Given the description of an element on the screen output the (x, y) to click on. 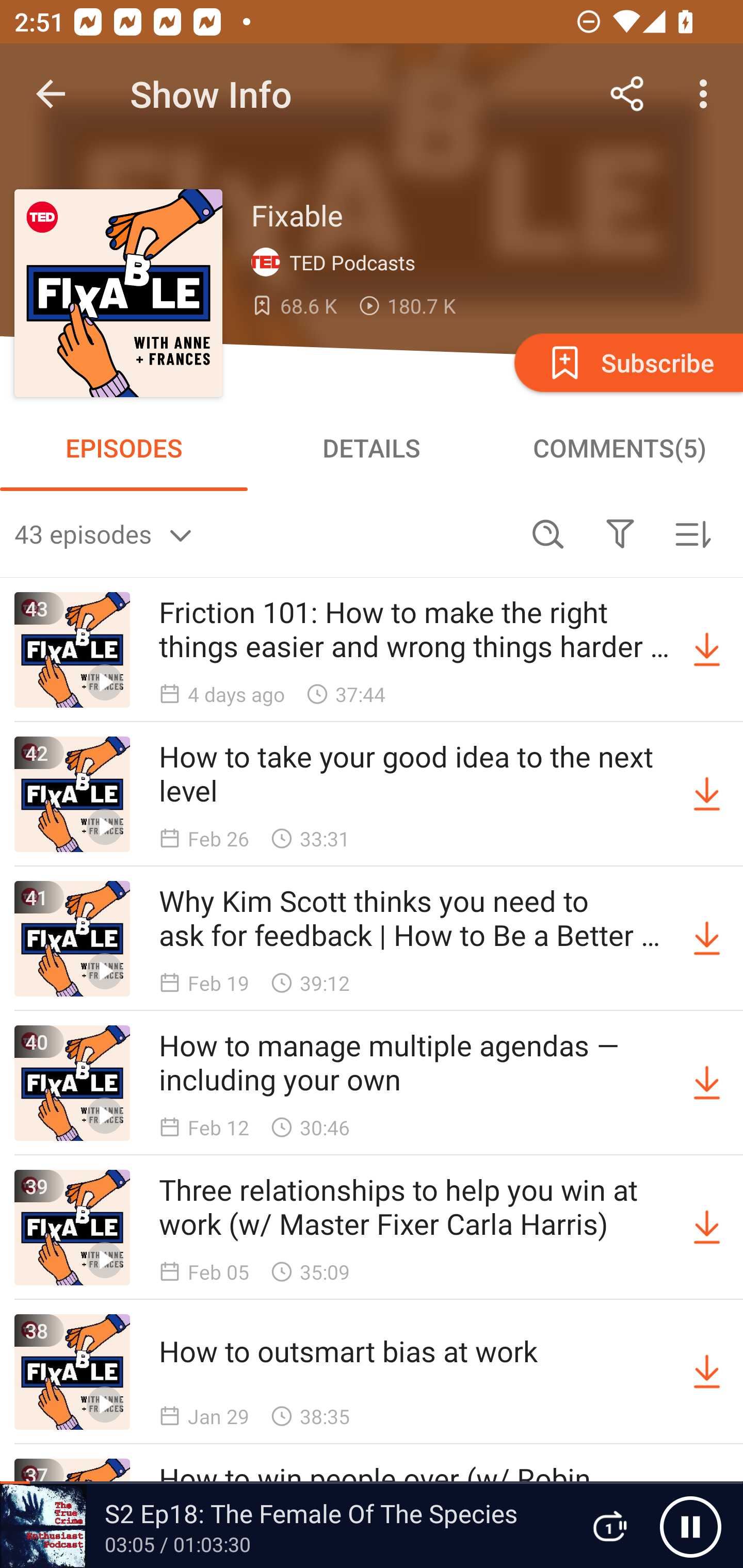
Navigate up (50, 93)
Share (626, 93)
More options (706, 93)
TED Podcasts (337, 262)
Subscribe (627, 361)
EPISODES (123, 447)
DETAILS (371, 447)
COMMENTS(5) (619, 447)
43 episodes  (262, 533)
 Search (547, 533)
 (619, 533)
 Sorted by newest first (692, 533)
Download (706, 649)
Download (706, 793)
Download (706, 939)
Download (706, 1083)
Download (706, 1227)
Download (706, 1371)
Pause (690, 1526)
